Given the description of an element on the screen output the (x, y) to click on. 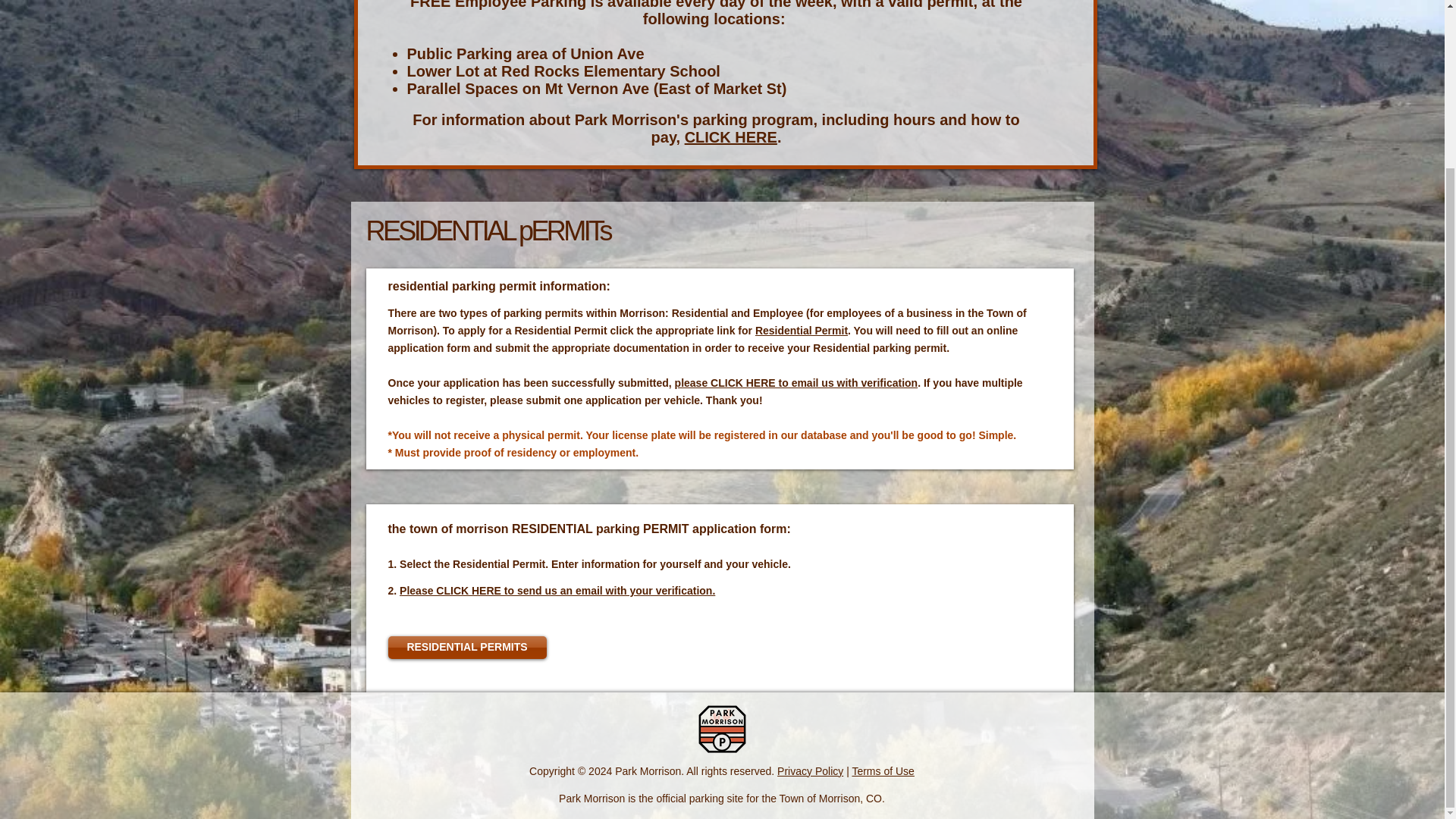
CLICK HERE (730, 136)
Privacy Policy (810, 770)
RESIDENTIAL PERMITS (467, 647)
Terms of Use (882, 770)
Residential Permit (801, 330)
please CLICK HERE to email us with verification (796, 382)
